Given the description of an element on the screen output the (x, y) to click on. 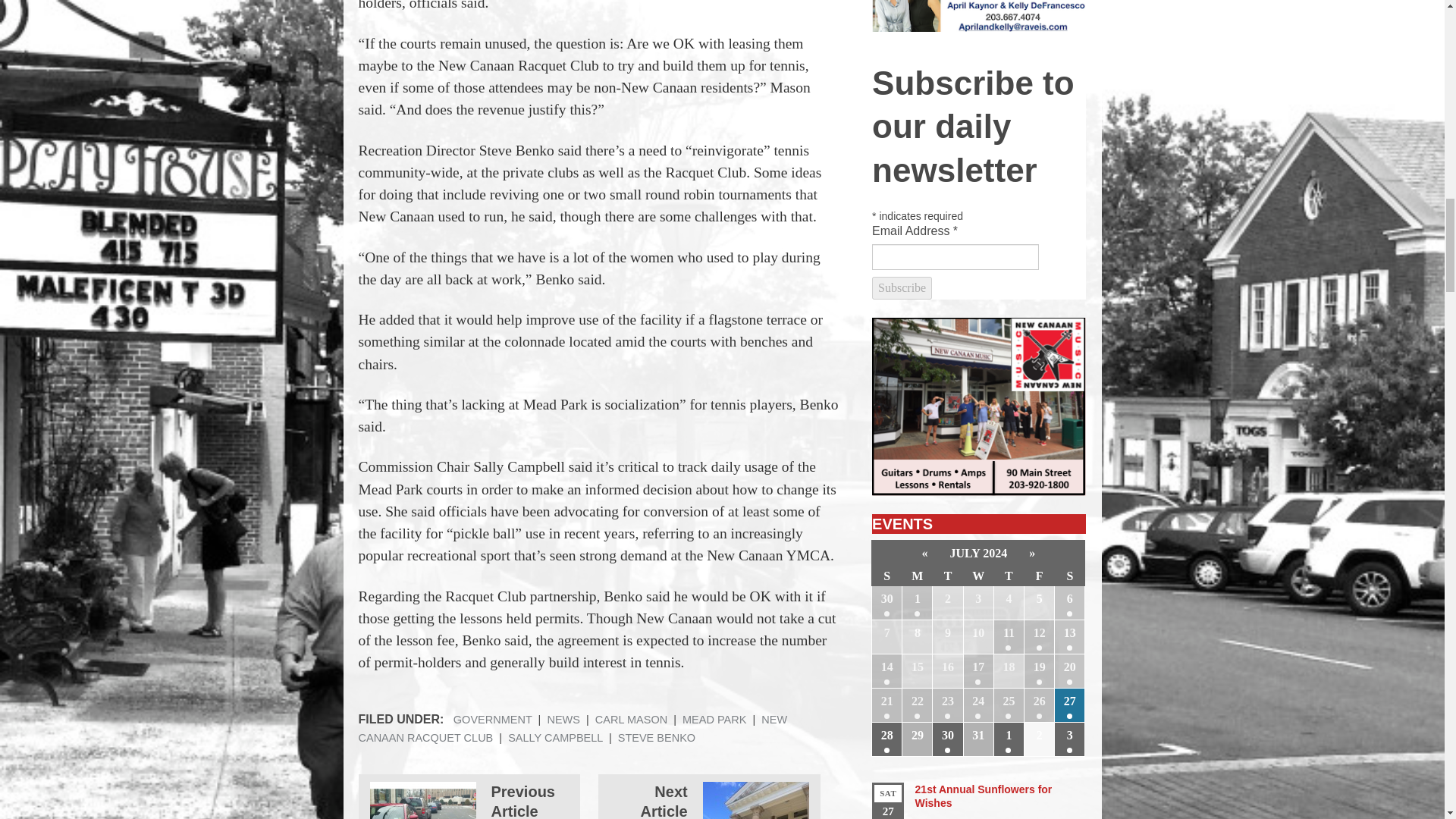
Subscribe (901, 287)
